Given the description of an element on the screen output the (x, y) to click on. 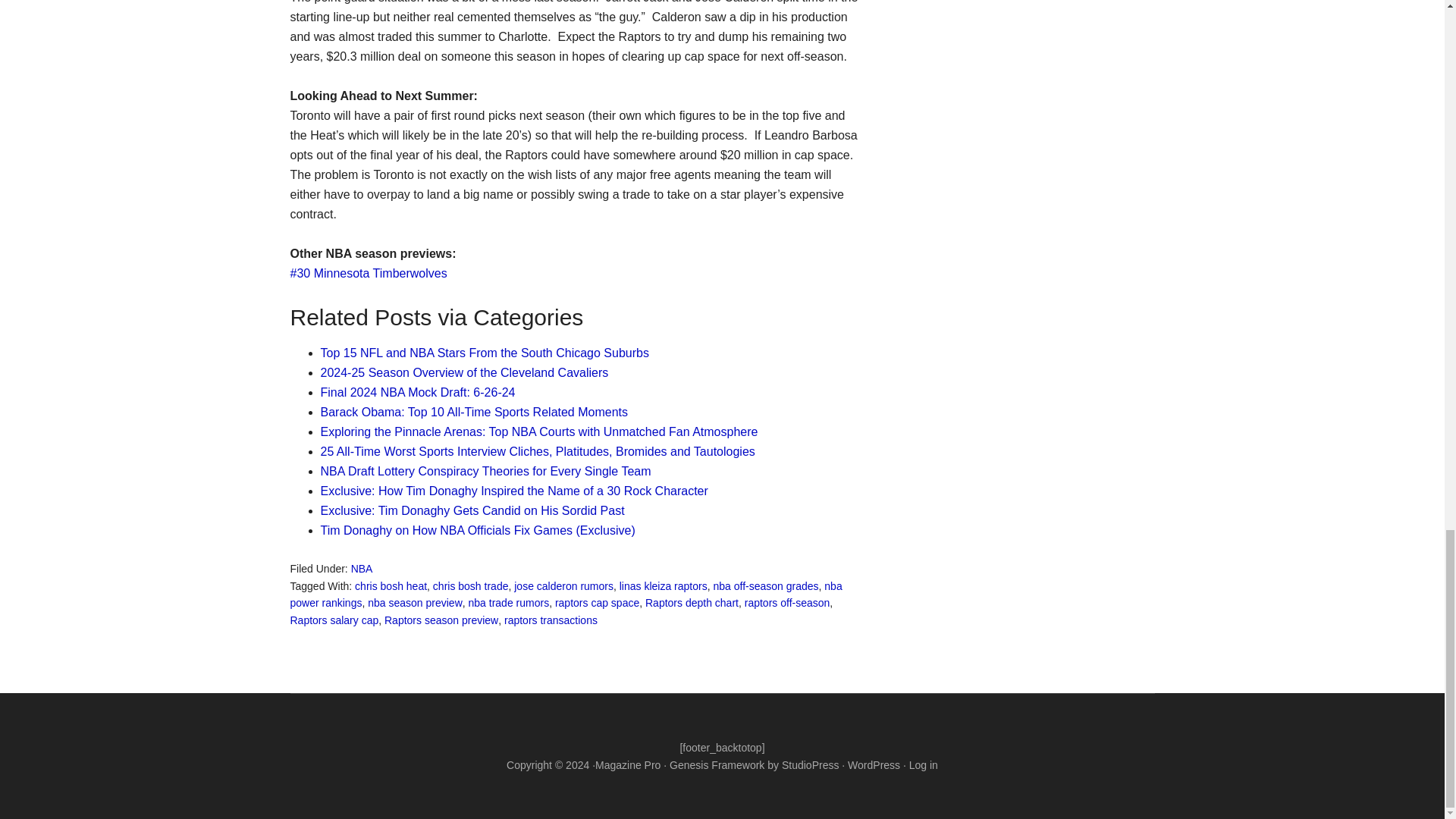
NBA Draft Lottery Conspiracy Theories for Every Single Team (485, 471)
Barack Obama: Top 10 All-Time Sports Related Moments (473, 411)
NBA (361, 568)
NBA Draft Lottery Conspiracy Theories for Every Single Team (485, 471)
Final 2024 NBA Mock Draft: 6-26-24 (417, 391)
Barack Obama: Top 10 All-Time Sports Related Moments (473, 411)
Final 2024 NBA Mock Draft: 6-26-24 (417, 391)
Top 15 NFL and NBA Stars From the South Chicago Suburbs (483, 352)
chris bosh trade (470, 585)
2024-25 Season Overview of the Cleveland Cavaliers (464, 372)
